Given the description of an element on the screen output the (x, y) to click on. 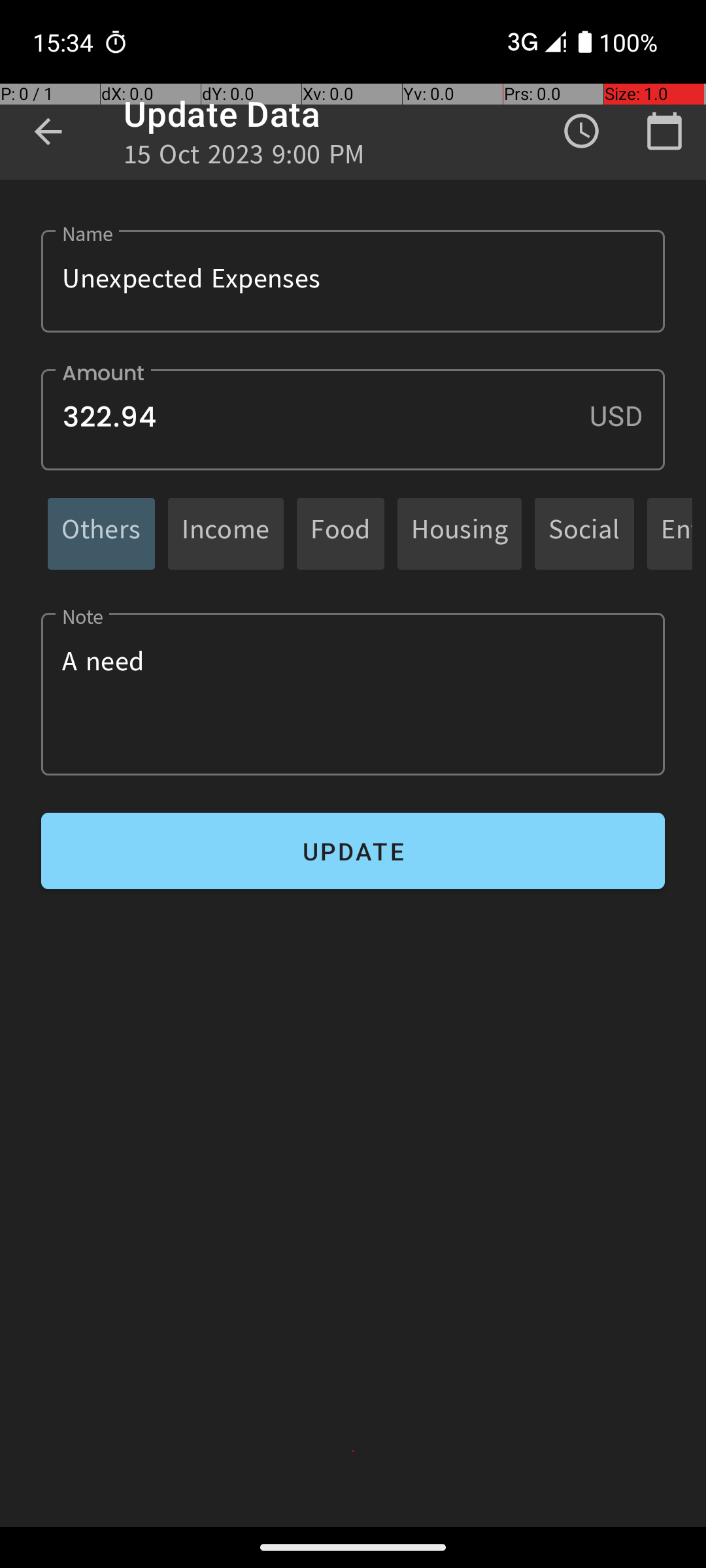
15 Oct 2023 9:00 PM Element type: android.widget.TextView (244, 157)
Unexpected Expenses Element type: android.widget.EditText (352, 280)
322.94 Element type: android.widget.EditText (352, 419)
A need Element type: android.widget.EditText (352, 693)
Others Element type: android.widget.TextView (101, 533)
